Given the description of an element on the screen output the (x, y) to click on. 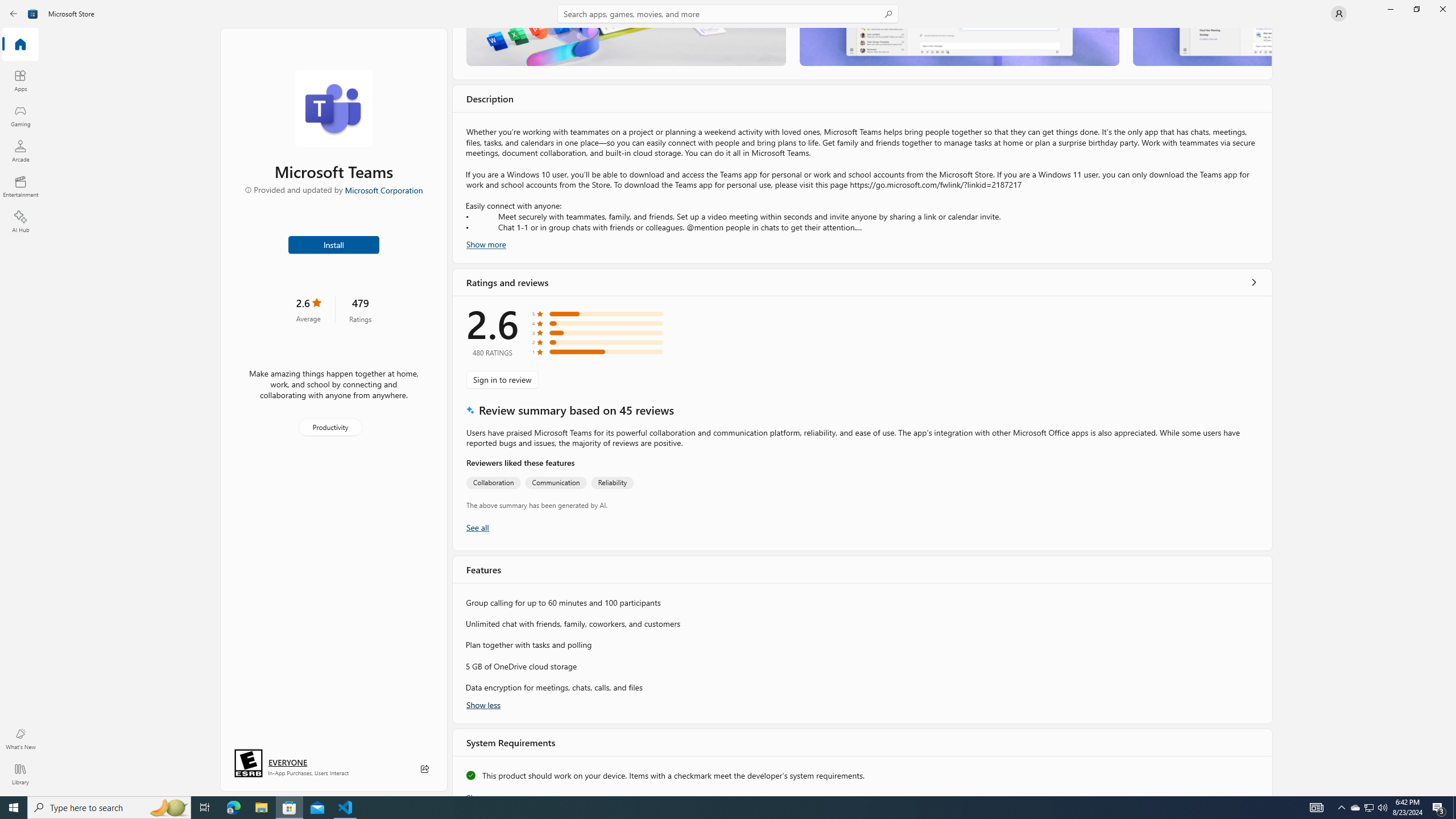
Home (20, 45)
Screenshot 2 (959, 46)
Share (424, 769)
Close Microsoft Store (1442, 9)
Screenshot 1 (625, 46)
User profile (1338, 13)
Class: Image (32, 13)
Sign in to review (501, 379)
Show less (482, 703)
Screenshot 3 (1201, 46)
Library (20, 773)
Gaming (20, 115)
Restore Microsoft Store (1416, 9)
Microsoft Corporation (383, 189)
Show more (485, 793)
